Given the description of an element on the screen output the (x, y) to click on. 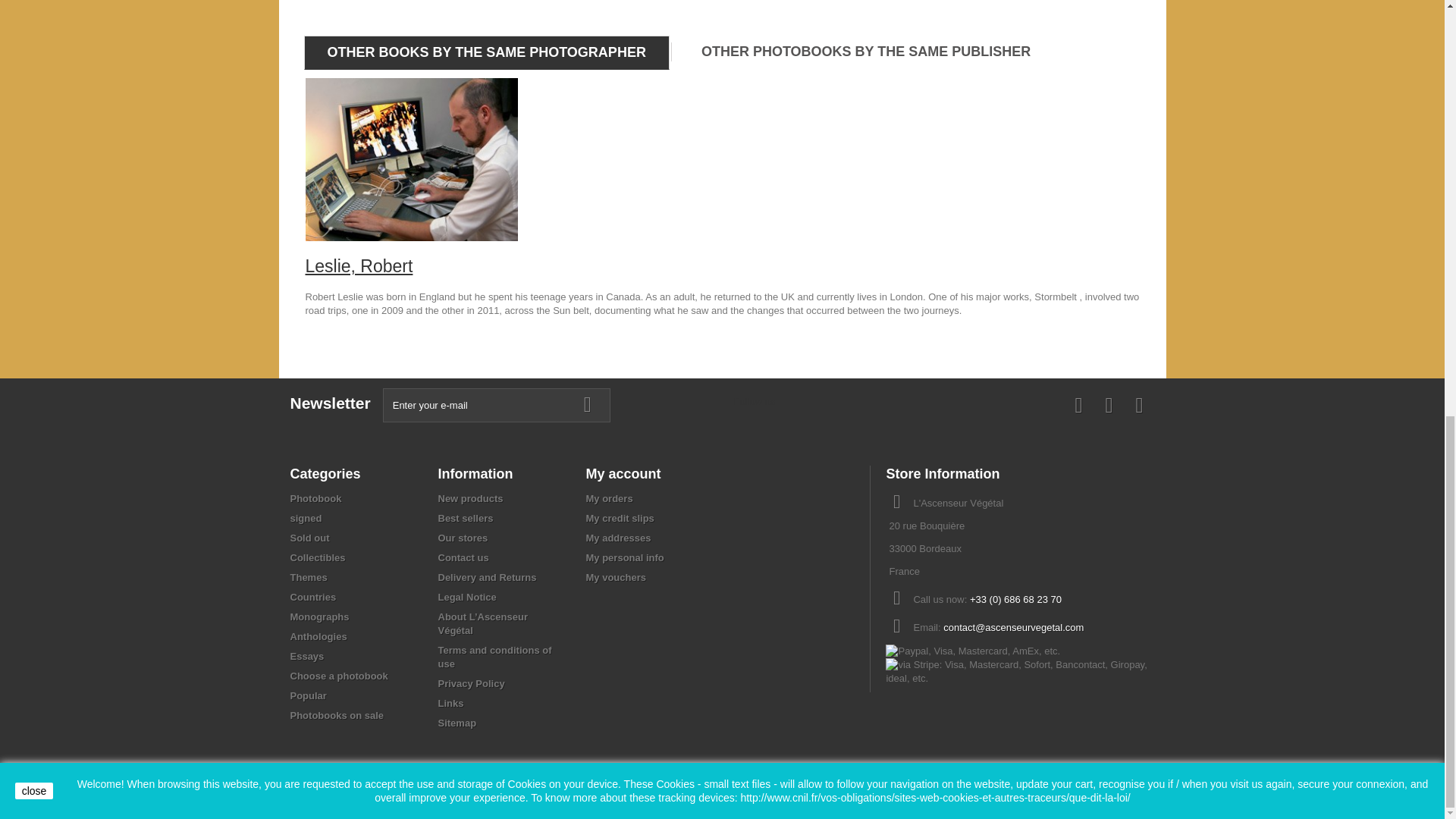
Enter your e-mail (496, 405)
